Given the description of an element on the screen output the (x, y) to click on. 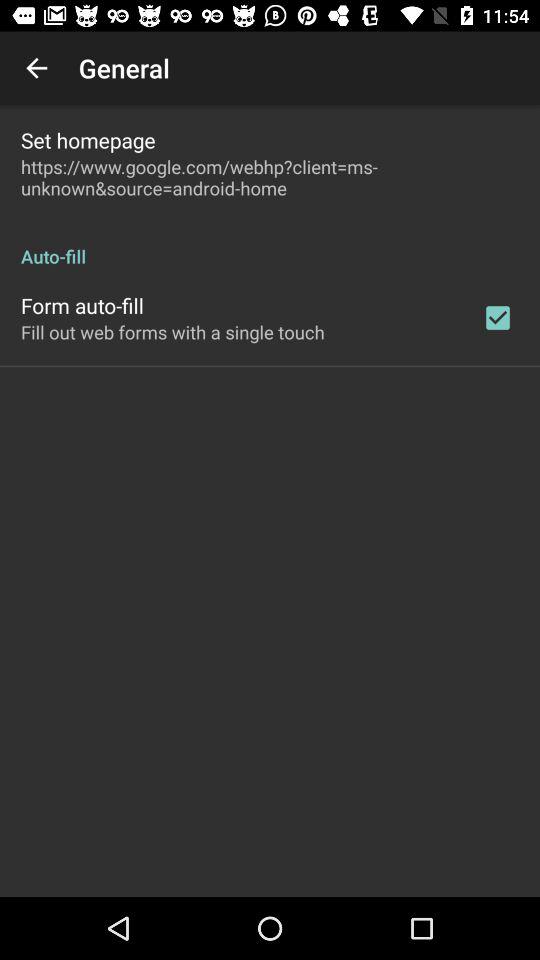
turn off the icon to the left of general item (36, 68)
